Given the description of an element on the screen output the (x, y) to click on. 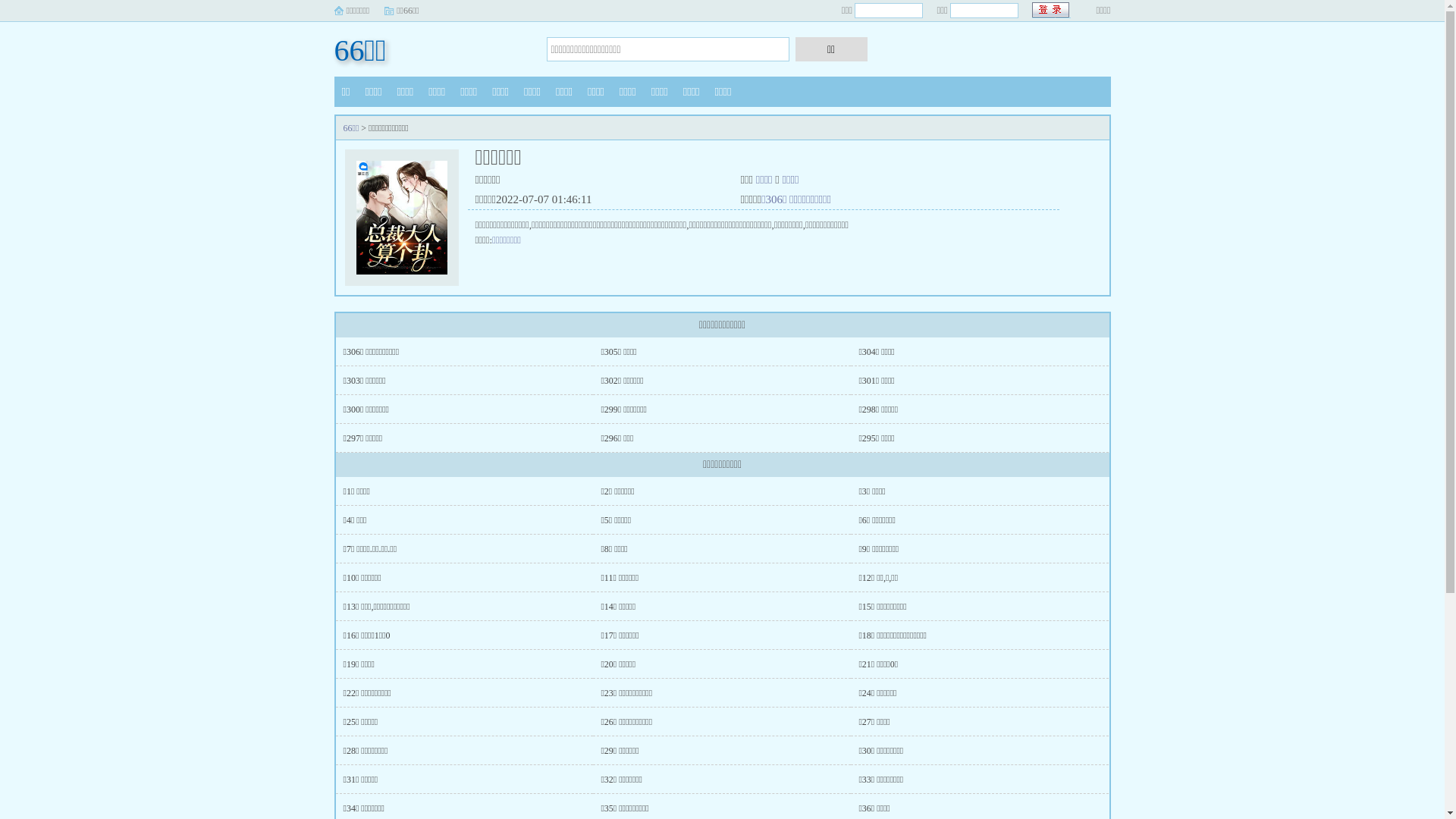
  Element type: text (1051, 10)
